Given the description of an element on the screen output the (x, y) to click on. 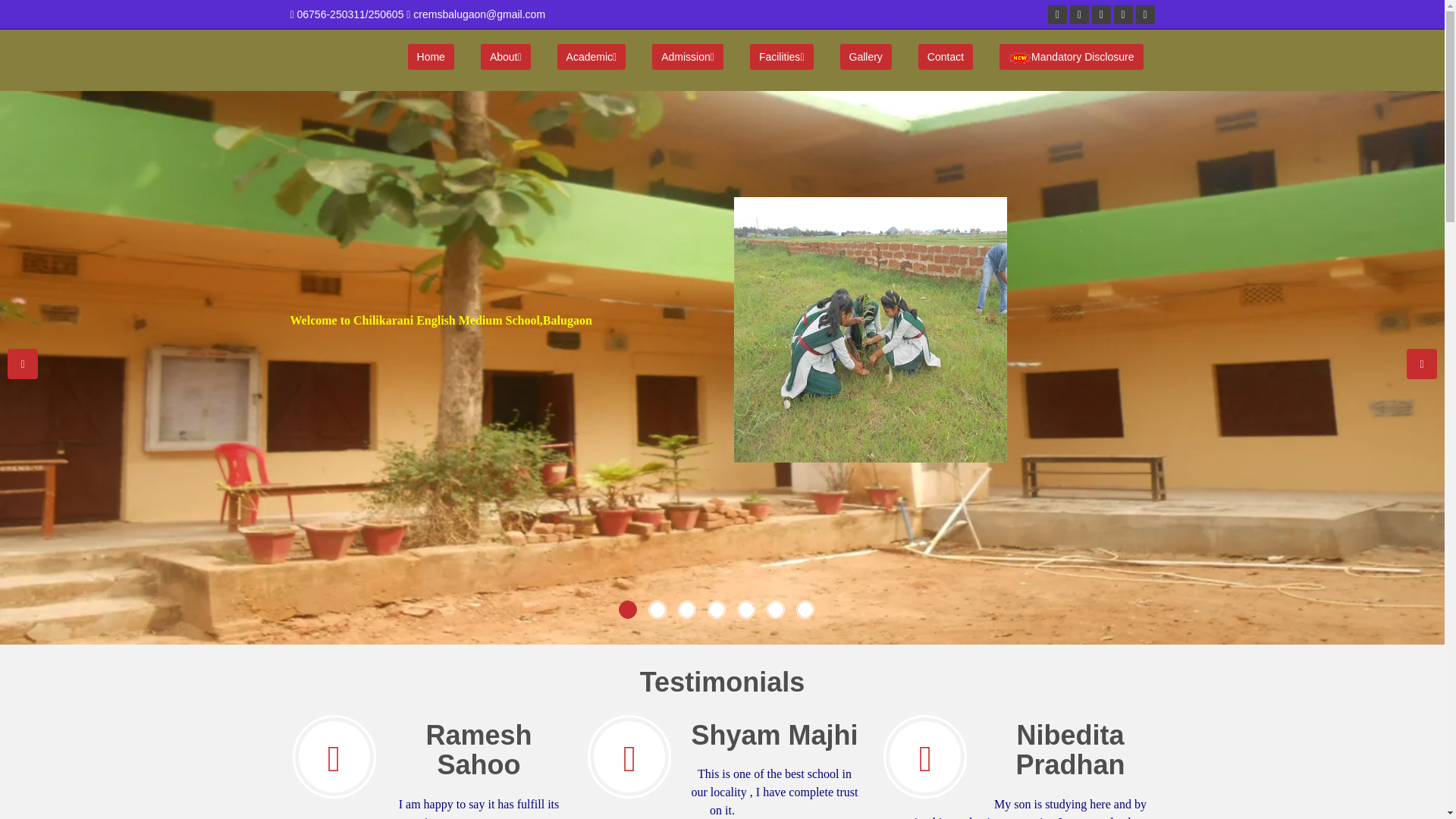
Gallery (865, 56)
Facilities (781, 56)
Home (430, 56)
Contact (945, 56)
Academic (591, 56)
Mandatory Disclosure (1070, 56)
Admission (687, 56)
About (505, 56)
